Given the description of an element on the screen output the (x, y) to click on. 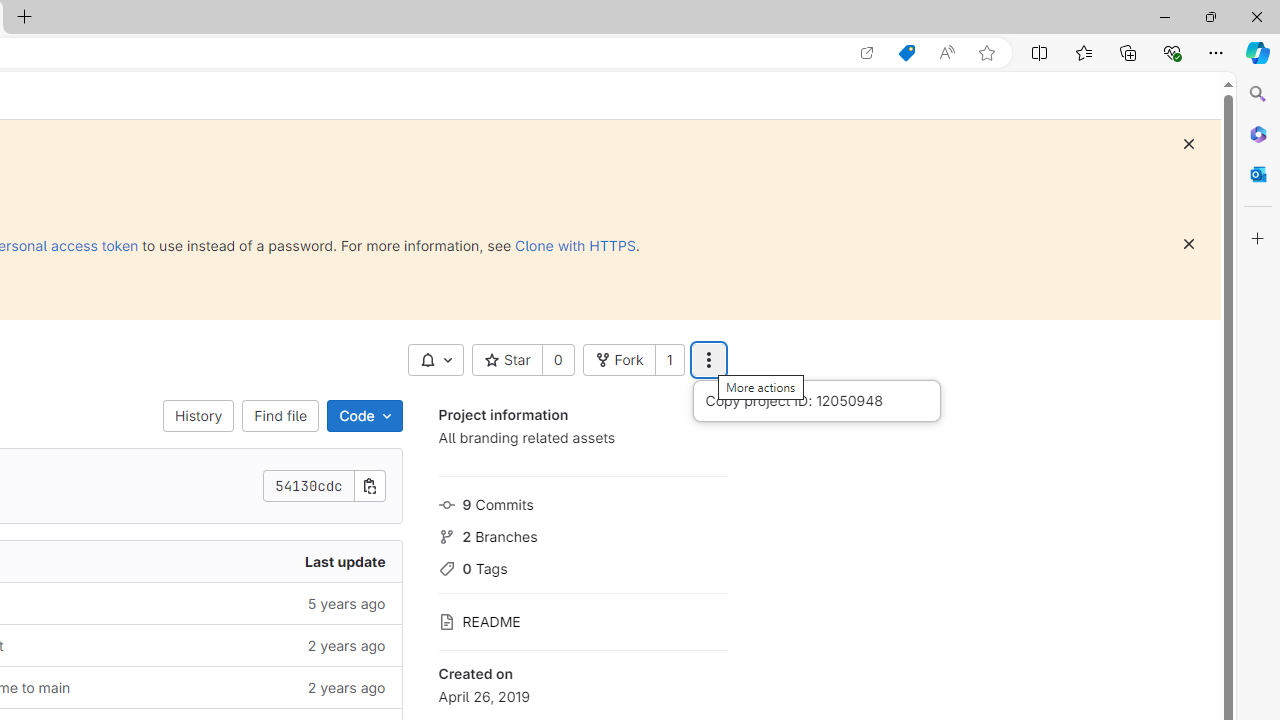
Find file (280, 416)
2 years ago (247, 687)
Class: s16 gl-icon gl-button-icon  (1188, 243)
Class: s16 icon gl-mr-3 gl-text-gray-500 (445, 622)
Copy commit SHA (369, 485)
History (198, 416)
Clone with HTTPS (575, 245)
Copy project ID: 12050948 (816, 400)
9 Commits (582, 502)
README (582, 620)
2 Branches (582, 534)
AutomationID: __BVID__301__BV_toggle_ (435, 359)
